Given the description of an element on the screen output the (x, y) to click on. 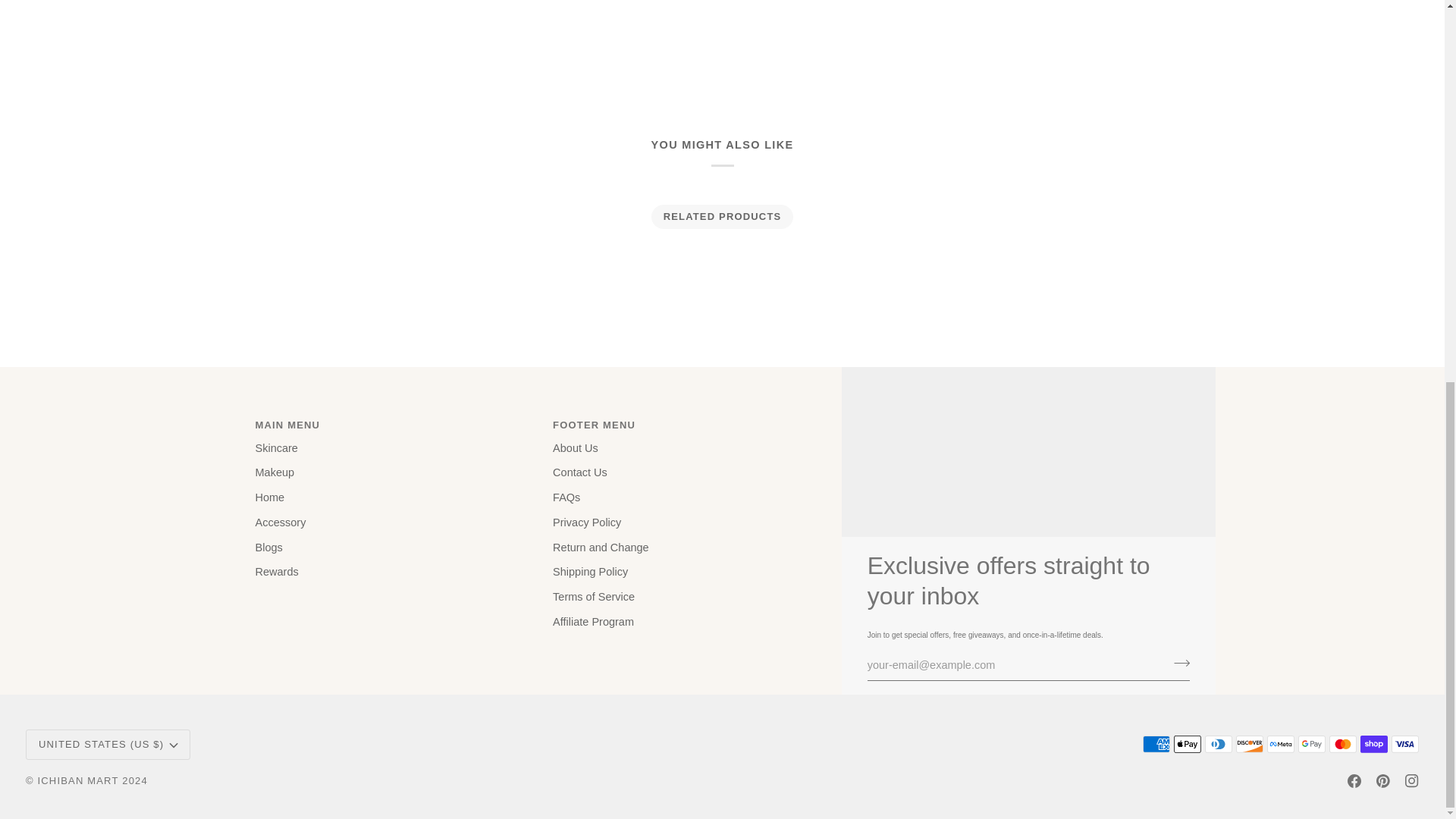
DISCOVER (1249, 743)
RELATED PRODUCTS (721, 216)
VISA (1404, 743)
Facebook (1354, 780)
APPLE PAY (1187, 743)
Pinterest (1382, 780)
SHOP PAY (1373, 743)
GOOGLE PAY (1311, 743)
META PAY (1280, 743)
MASTERCARD (1342, 743)
Instagram (1411, 780)
DINERS CLUB (1218, 743)
AMERICAN EXPRESS (1156, 743)
